Given the description of an element on the screen output the (x, y) to click on. 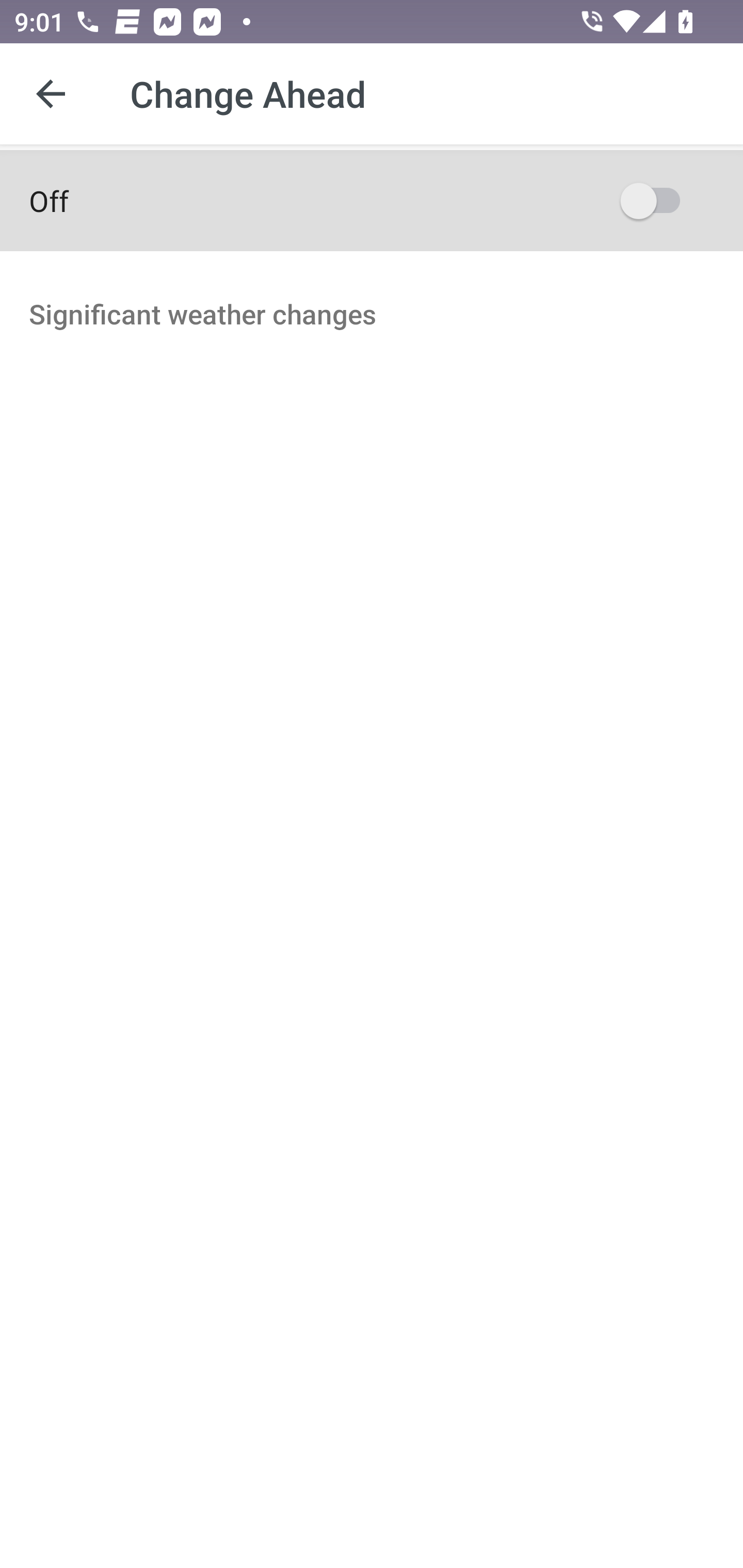
Navigate up (50, 93)
Off (371, 200)
